Given the description of an element on the screen output the (x, y) to click on. 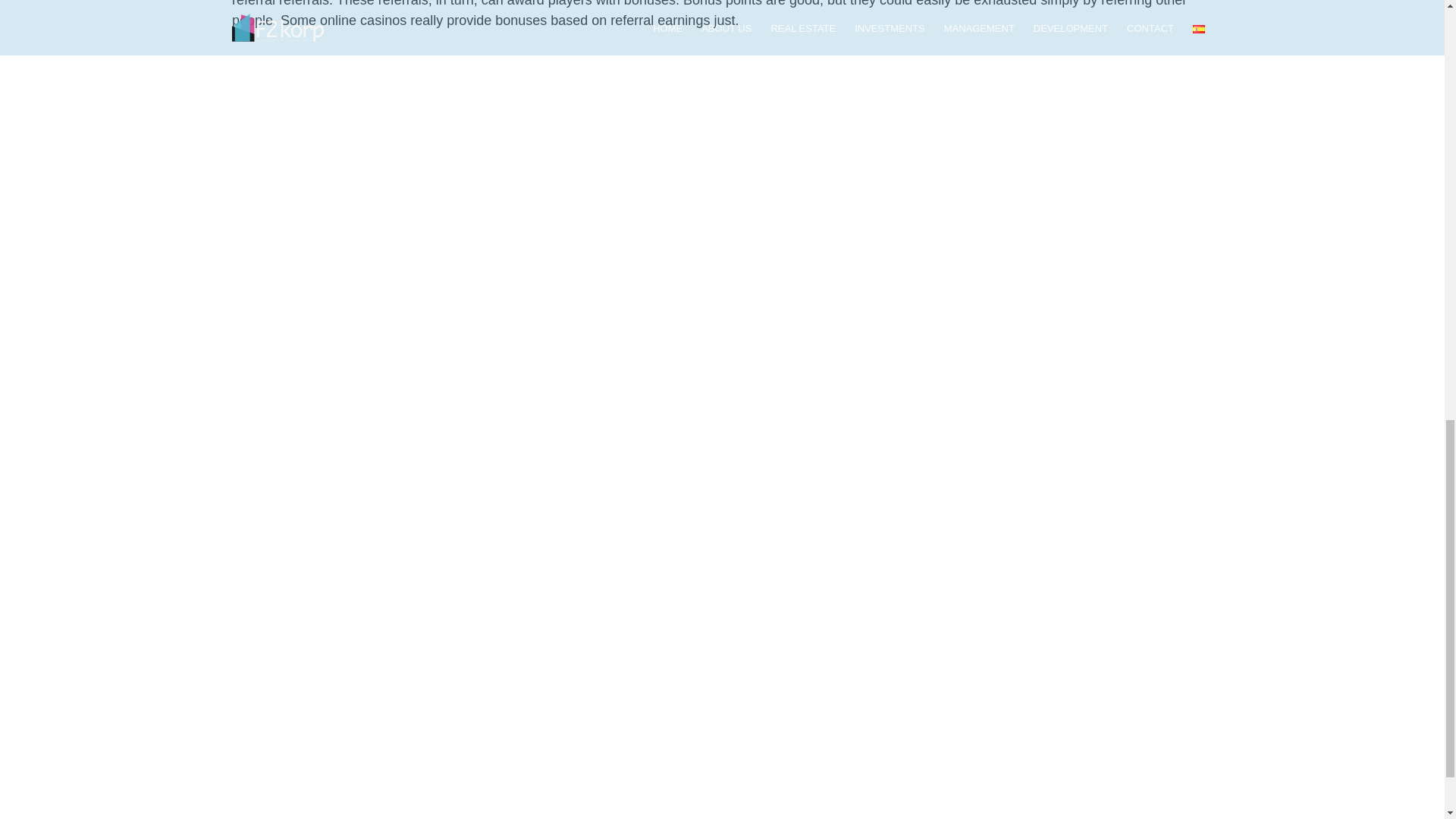
SUBMIT (1022, 623)
